Given the description of an element on the screen output the (x, y) to click on. 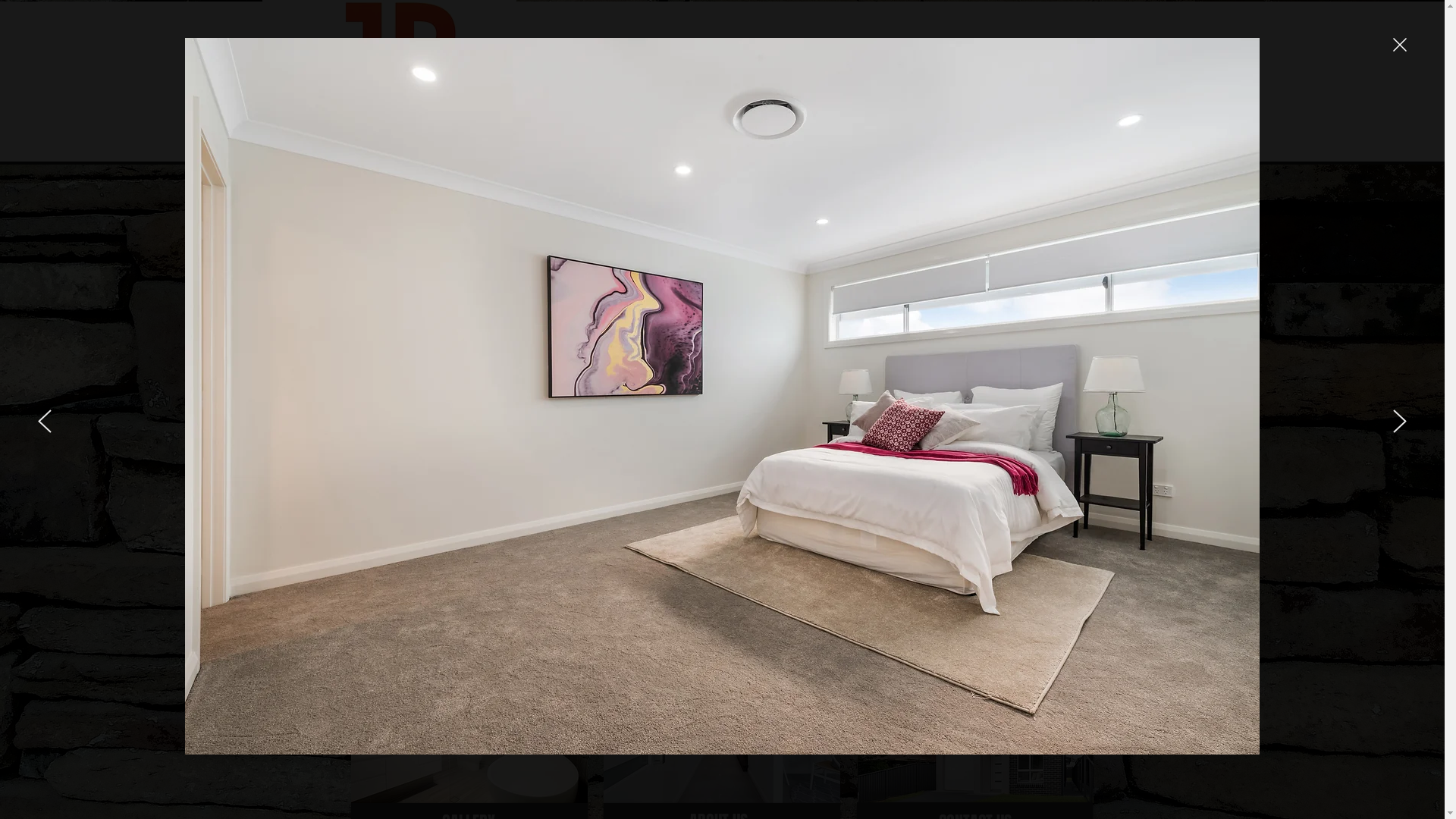
Skip Hire Element type: text (881, 146)
_UDA8874.jpg Element type: hover (721, 724)
Home - Devine Building Element type: text (494, 146)
Contact Element type: text (1010, 146)
Facebook Like Element type: hover (1061, 213)
_UDA8897.jpg Element type: hover (468, 724)
Photo Gallery Element type: text (623, 146)
Blueprint Design Element type: hover (974, 724)
About us Element type: text (752, 146)
